Given the description of an element on the screen output the (x, y) to click on. 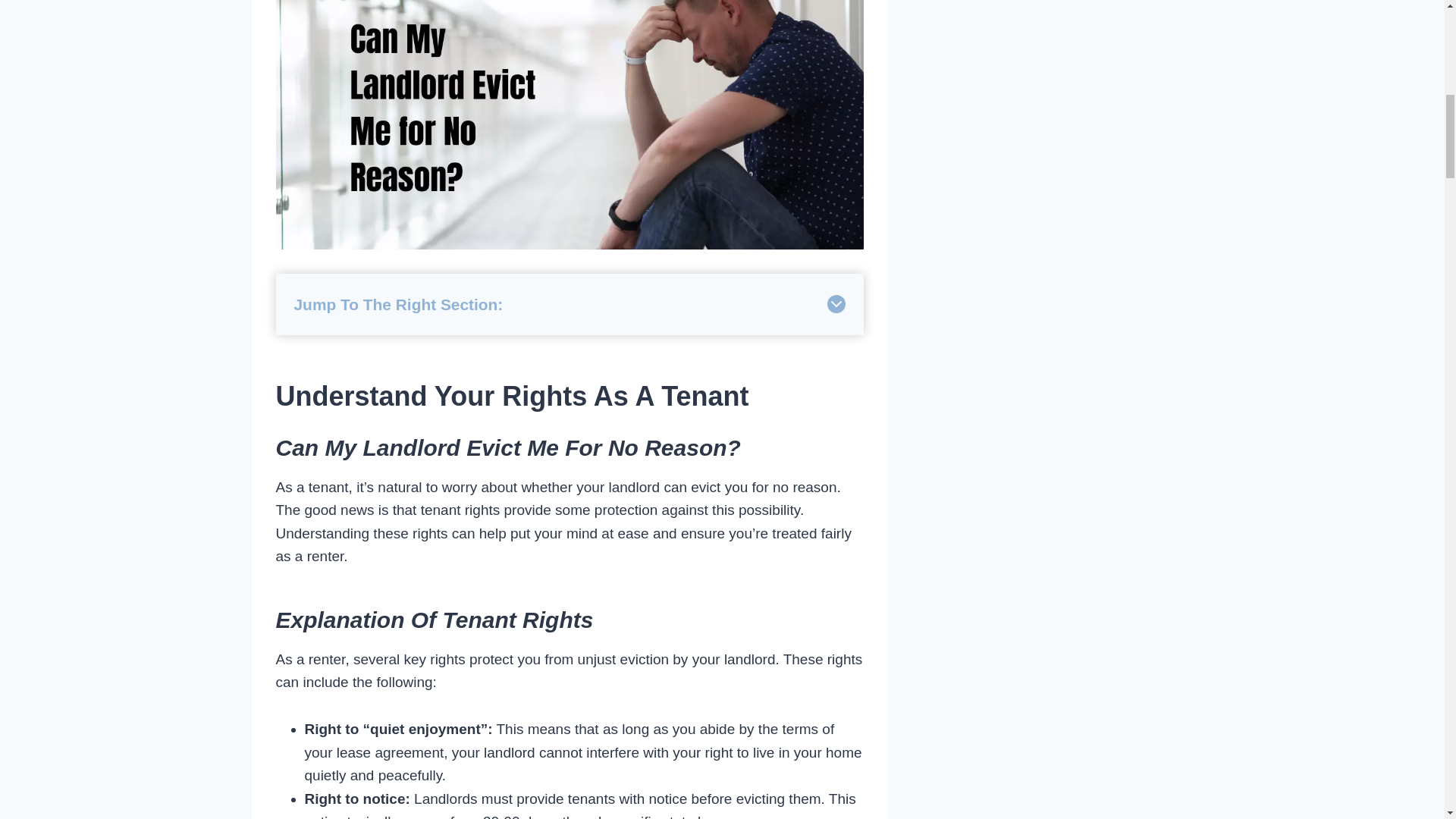
Jump To The Right Section: (569, 303)
